Given the description of an element on the screen output the (x, y) to click on. 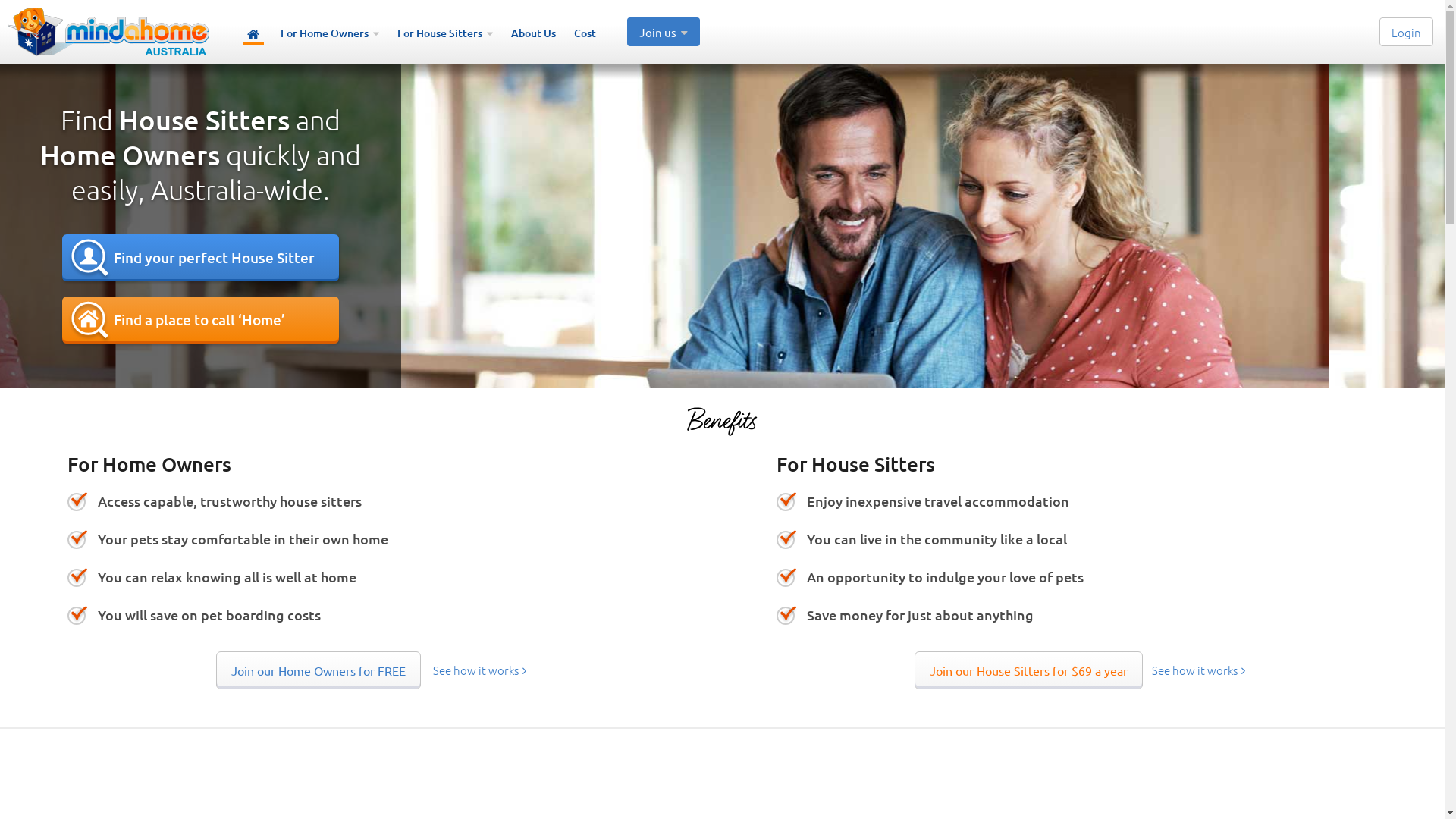
Join our House Sitters for $69 a year Element type: text (1028, 670)
Cost Element type: text (584, 34)
For Home Owners Element type: text (329, 34)
Join us Element type: text (663, 31)
Login Element type: text (1406, 31)
See how it works Element type: text (1198, 669)
For House Sitters Element type: text (444, 34)
Find your perfect House Sitter Element type: text (200, 257)
Home Element type: text (252, 34)
About Us Element type: text (533, 34)
Join our Home Owners for FREE Element type: text (318, 670)
See how it works Element type: text (479, 669)
